Given the description of an element on the screen output the (x, y) to click on. 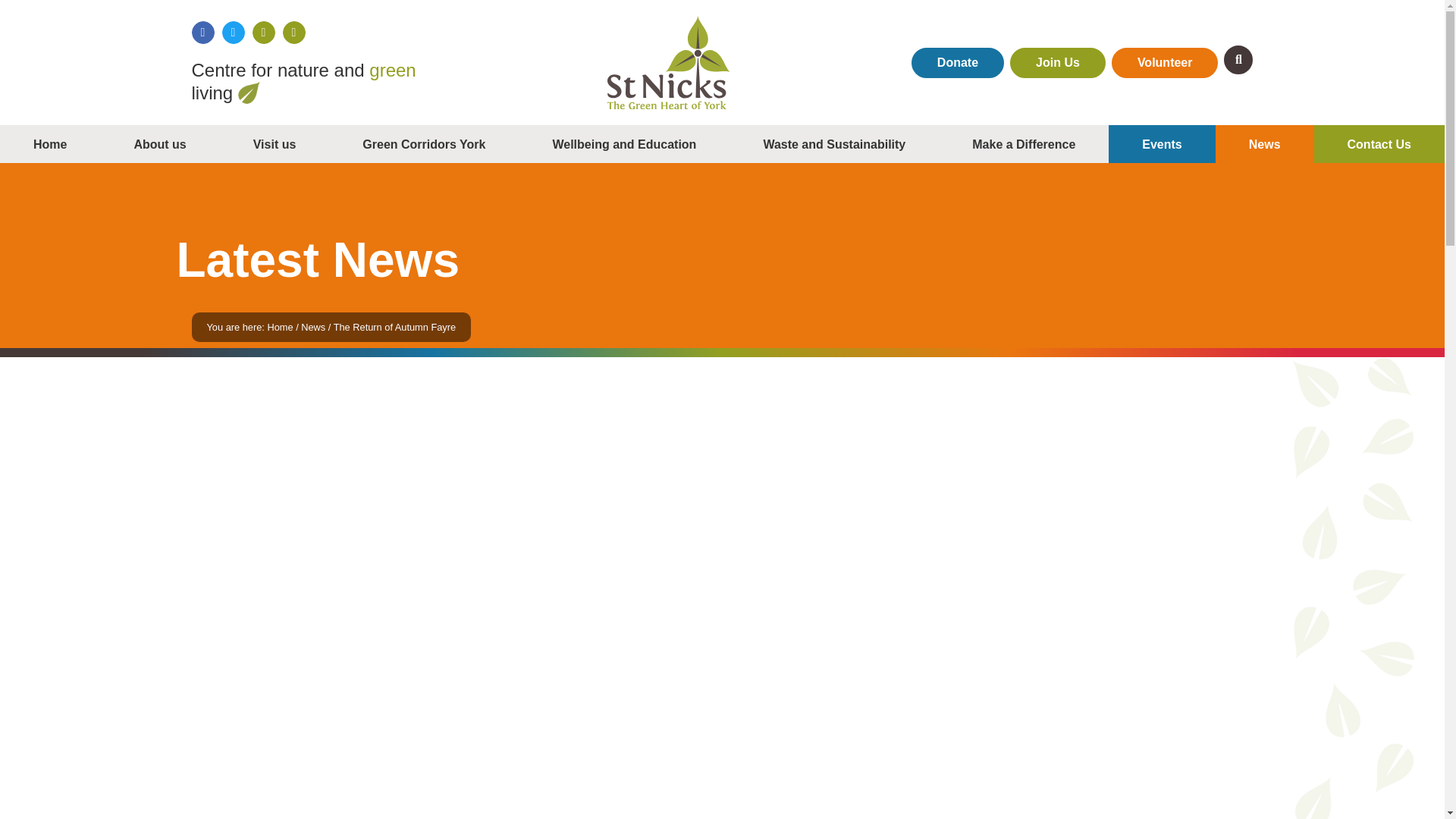
Donate (957, 61)
Volunteer (1165, 61)
About us (159, 143)
Join Us (1057, 61)
Visit us (274, 143)
Home (50, 143)
